Given the description of an element on the screen output the (x, y) to click on. 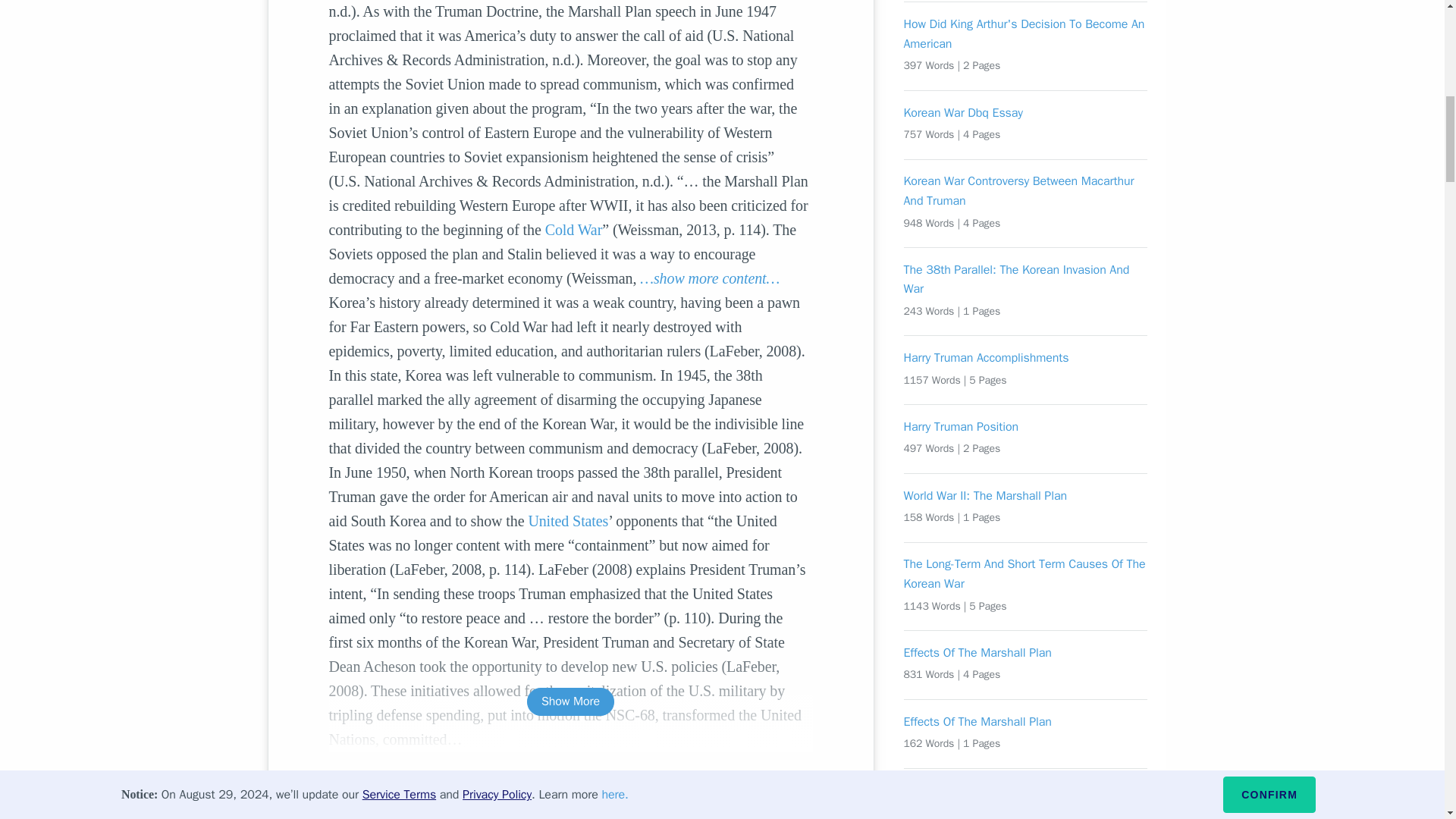
United States (567, 520)
Cold War (573, 229)
Show More (570, 701)
